Given the description of an element on the screen output the (x, y) to click on. 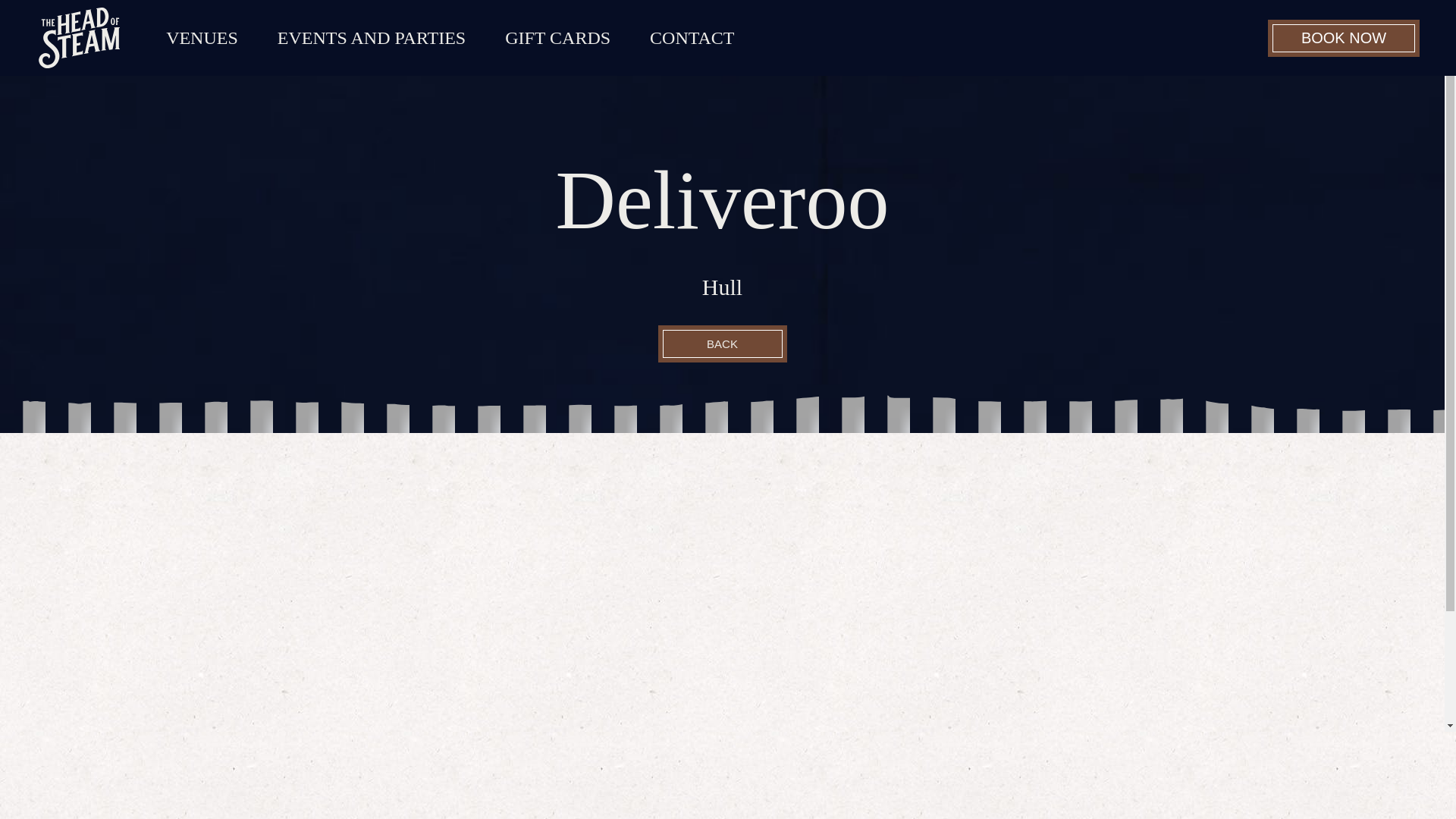
EVENTS AND PARTIES (370, 36)
VENUES (202, 36)
GIFT CARDS (558, 36)
BACK (722, 342)
CONTACT (691, 36)
BOOK NOW (1343, 37)
Home (79, 37)
